Given the description of an element on the screen output the (x, y) to click on. 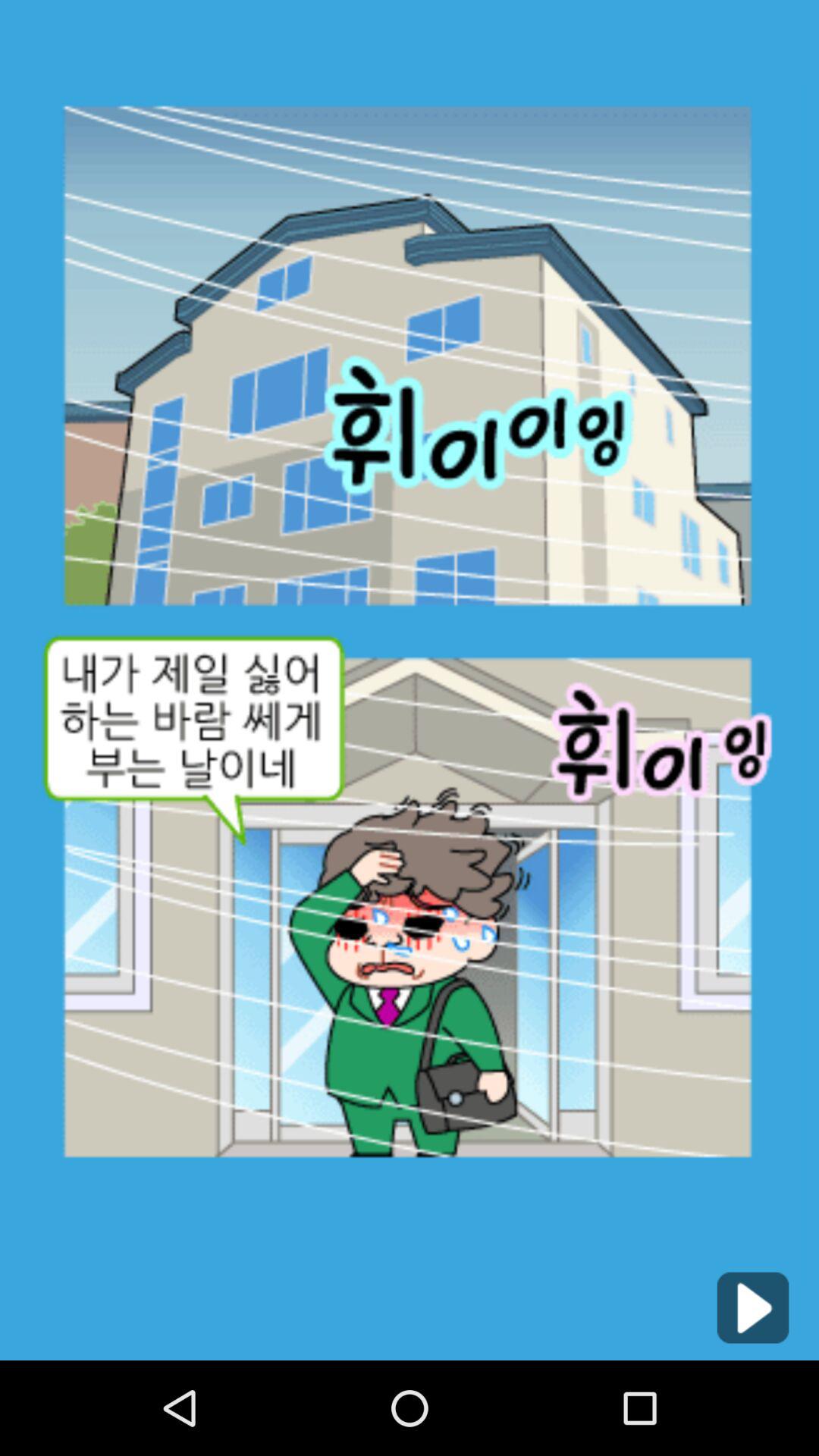
go next (752, 1307)
